Given the description of an element on the screen output the (x, y) to click on. 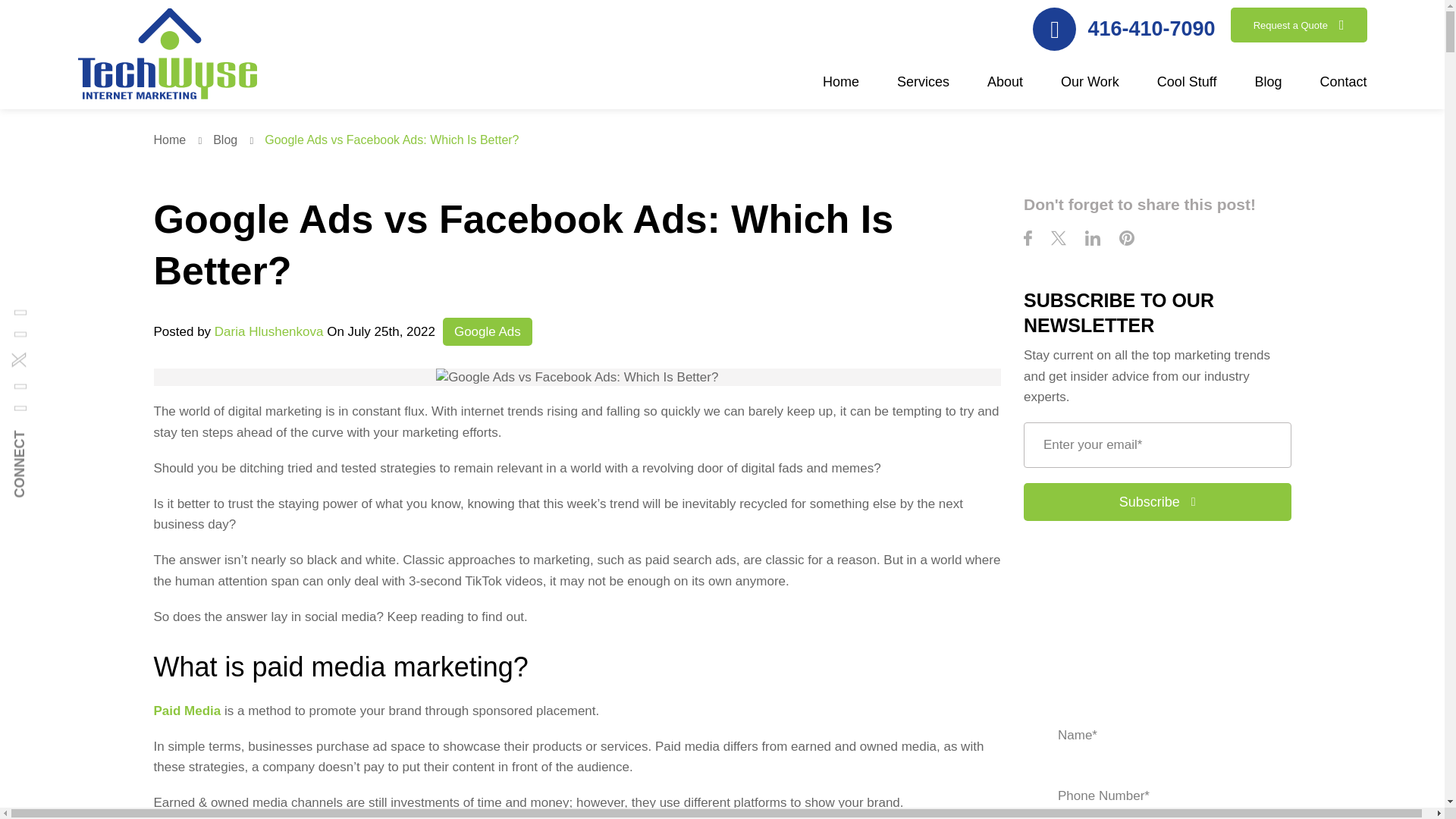
Our Work (1090, 90)
Home (180, 139)
416-410-7090 (1123, 28)
Blog (236, 139)
email (1157, 444)
Services (922, 90)
Request a Quote (1298, 24)
About (1005, 90)
Google Ads (487, 331)
Posts by Daria Hlushenkova (268, 331)
